Given the description of an element on the screen output the (x, y) to click on. 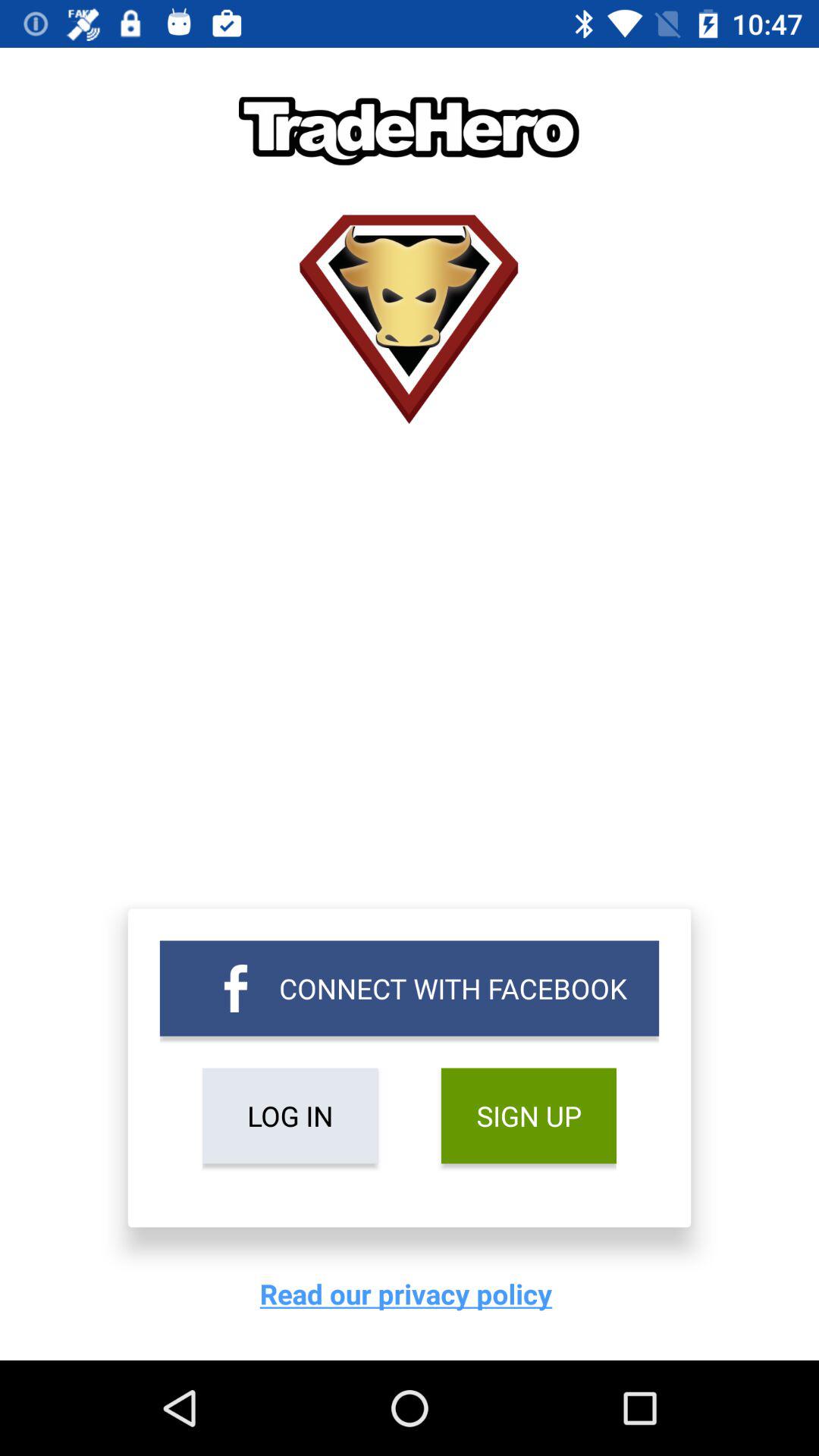
launch item above the log in item (409, 988)
